Given the description of an element on the screen output the (x, y) to click on. 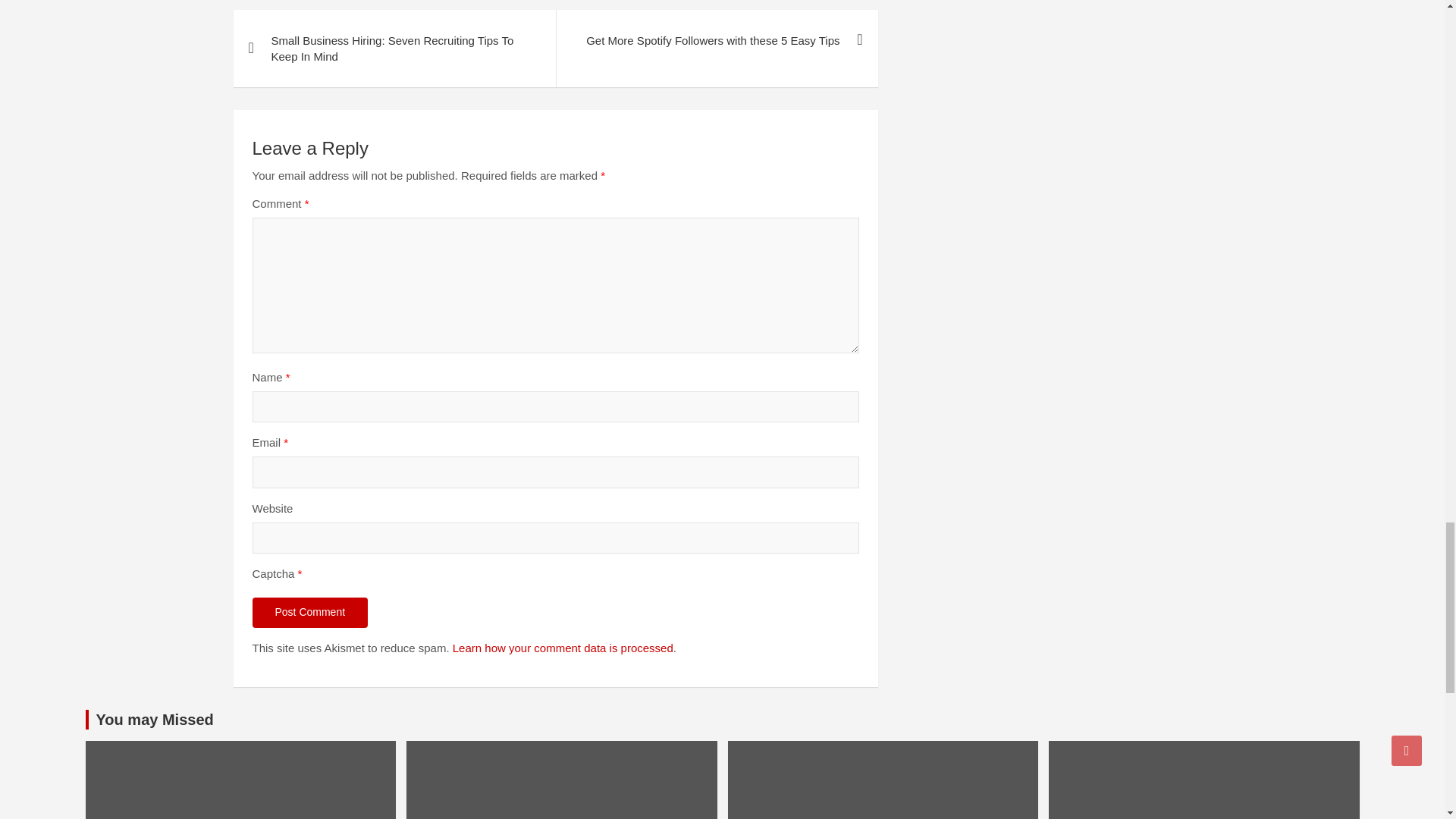
Post Comment (309, 612)
